Given the description of an element on the screen output the (x, y) to click on. 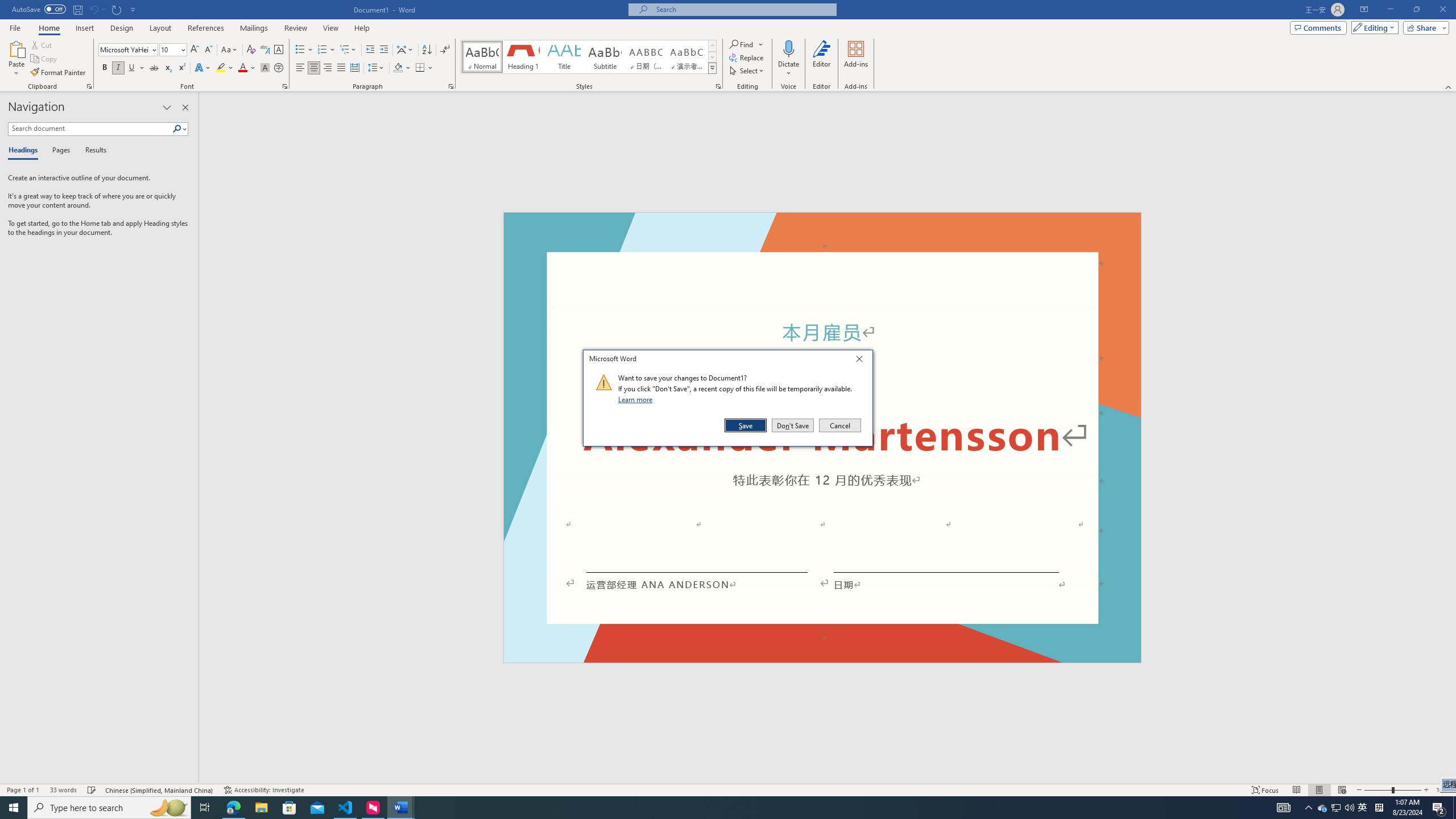
Heading 1 (522, 56)
